Given the description of an element on the screen output the (x, y) to click on. 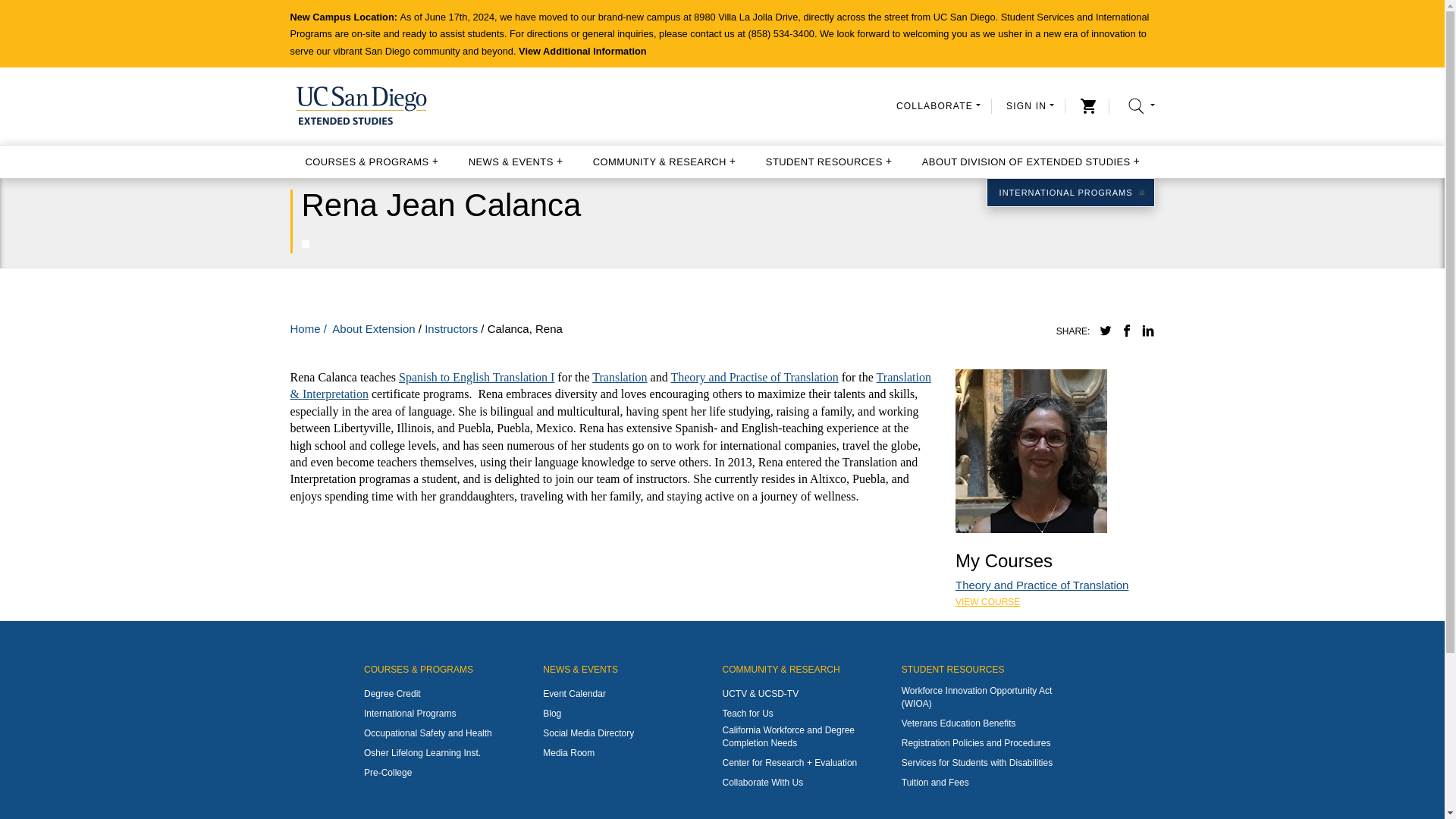
View Additional Information (582, 50)
SIGN IN (1030, 105)
COLLABORATE (937, 105)
